Given the description of an element on the screen output the (x, y) to click on. 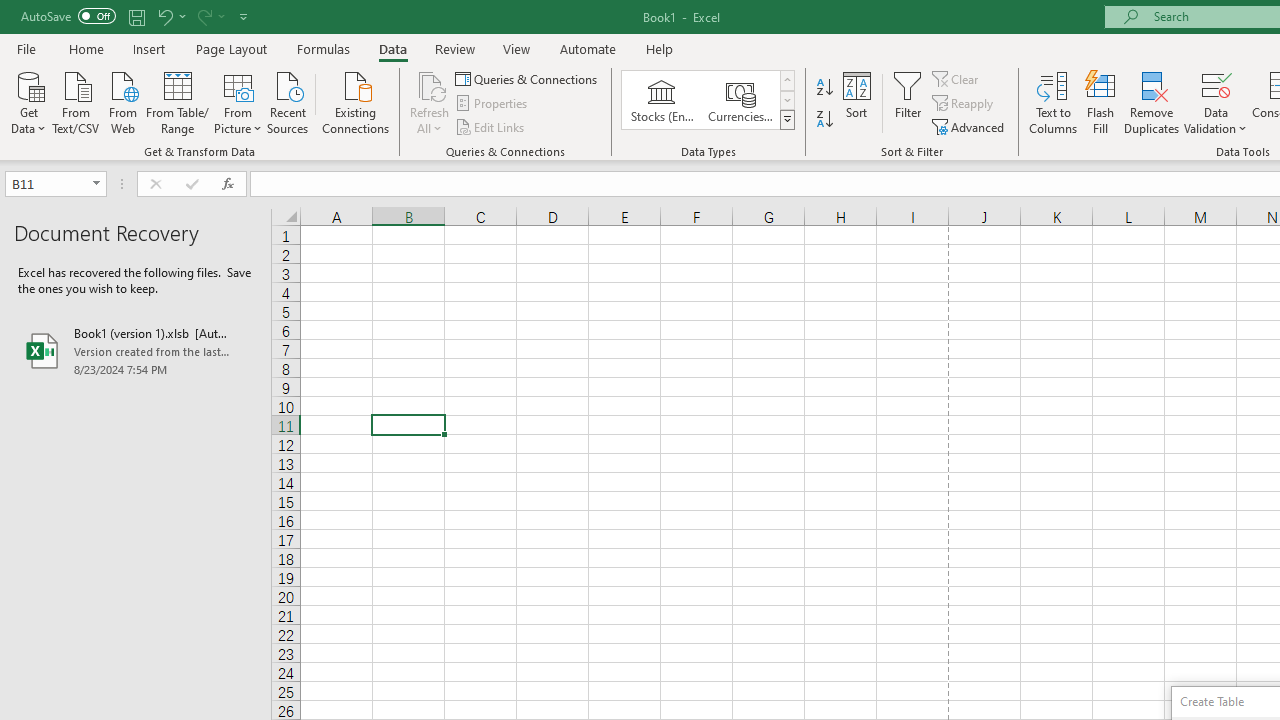
Sort A to Z (824, 87)
Queries & Connections (527, 78)
From Web (122, 101)
Data Validation... (1215, 102)
Clear (957, 78)
From Table/Range (177, 101)
Advanced... (970, 126)
Refresh All (429, 84)
Quick Access Toolbar (136, 16)
